Given the description of an element on the screen output the (x, y) to click on. 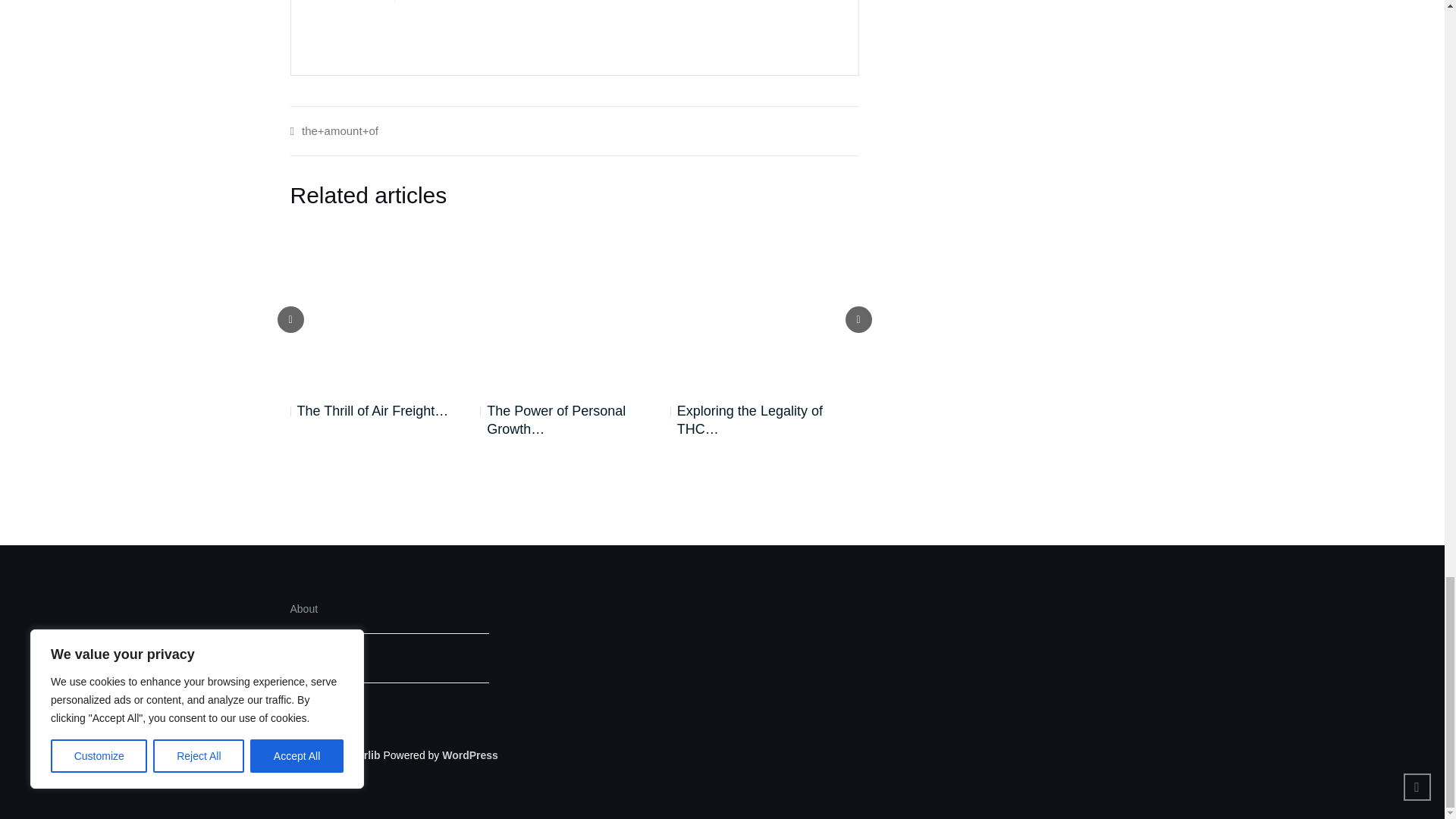
WordPress.org (469, 755)
Colorlib (360, 755)
